Given the description of an element on the screen output the (x, y) to click on. 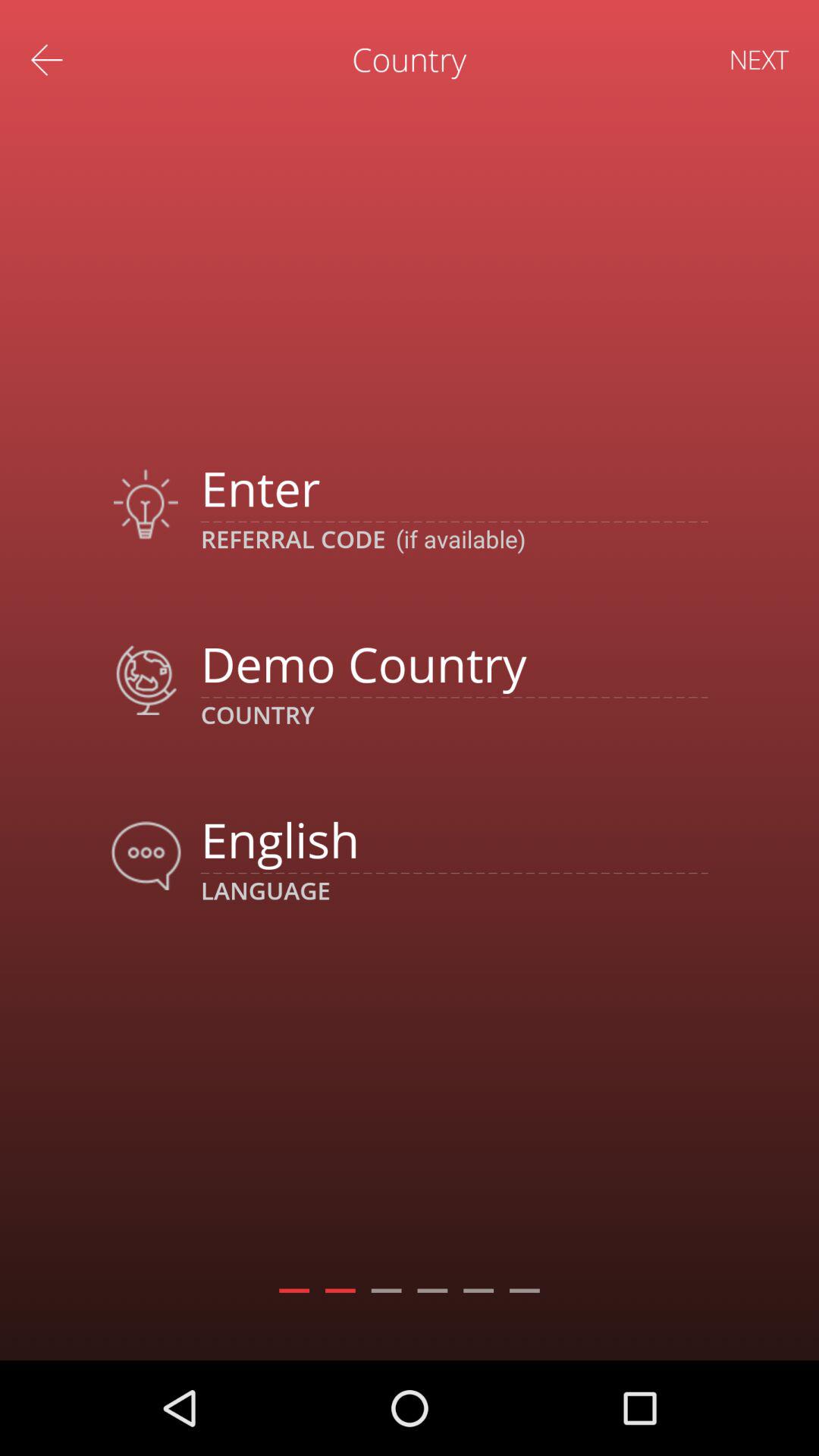
scroll to the english item (454, 839)
